Given the description of an element on the screen output the (x, y) to click on. 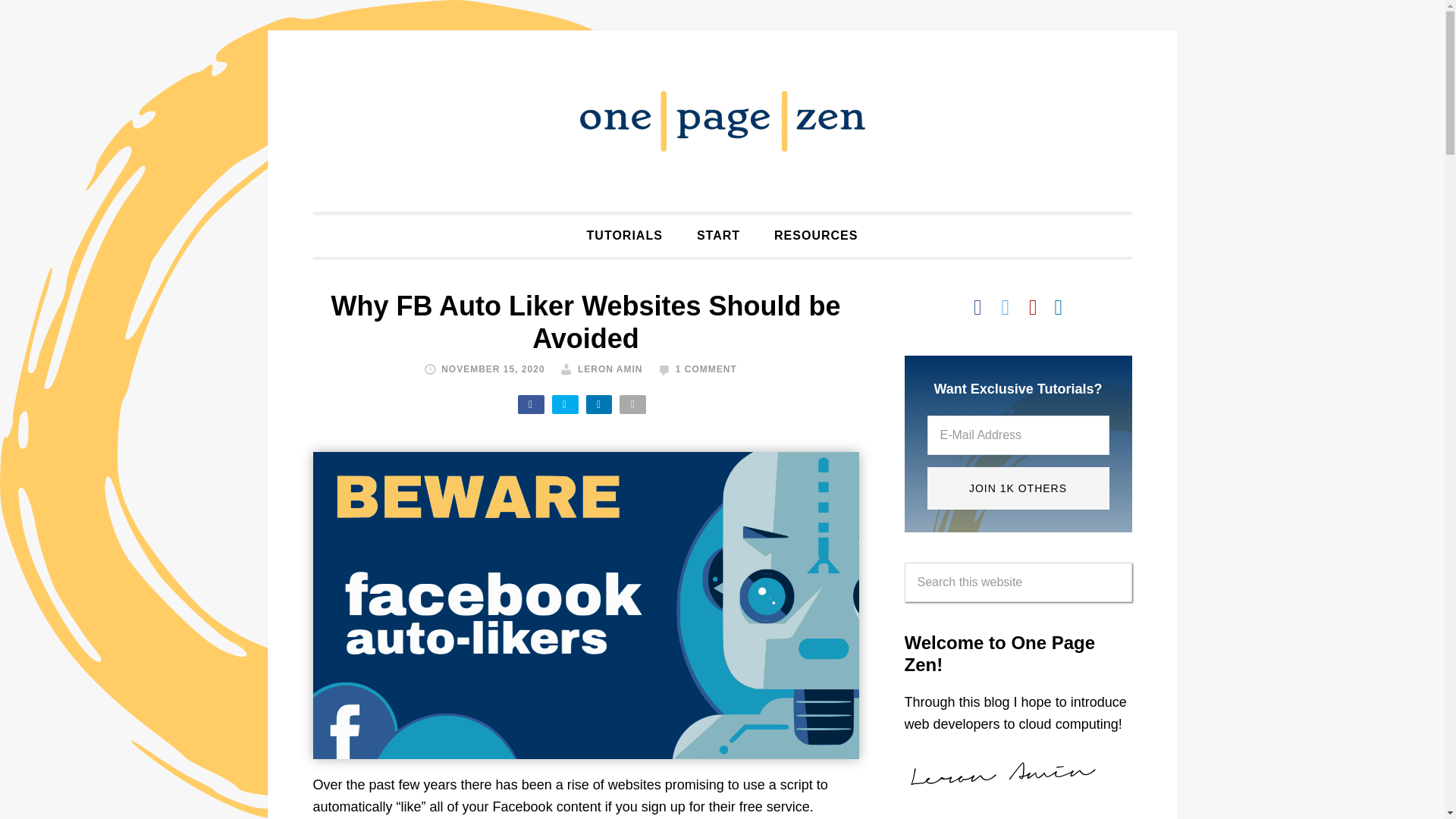
JOIN 1K OTHERS (1017, 487)
Share on Twitter (564, 404)
Share on LinkedIn (598, 404)
Share on Facebook (531, 404)
RESOURCES (815, 235)
ONE PAGE ZEN (721, 120)
Share via Email (633, 404)
TUTORIALS (625, 235)
START (718, 235)
1 COMMENT (705, 368)
